Given the description of an element on the screen output the (x, y) to click on. 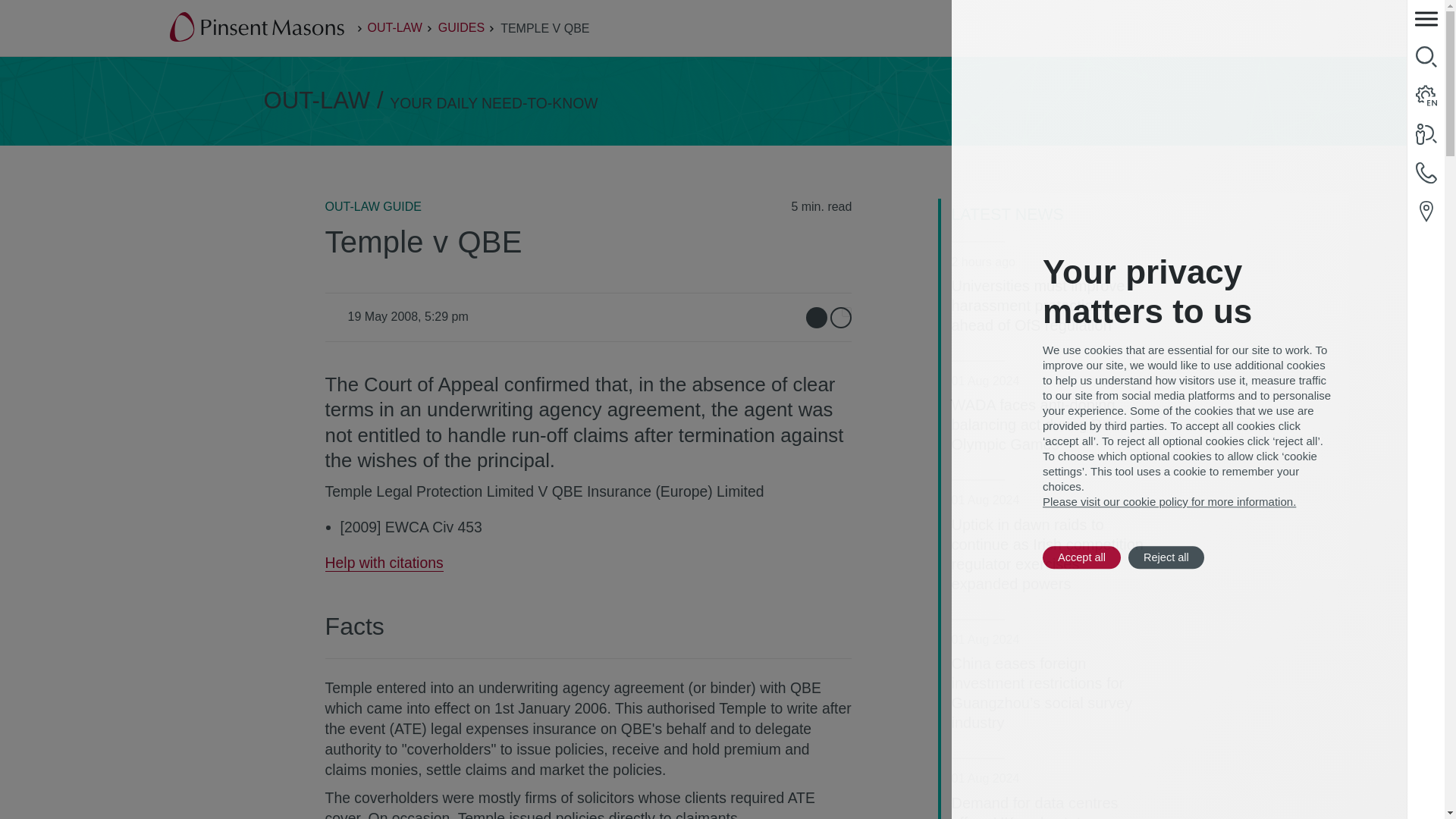
OUT-LAW (394, 27)
GUIDES (461, 27)
Pinsent Masons (257, 28)
on (846, 311)
Email (816, 317)
